Given the description of an element on the screen output the (x, y) to click on. 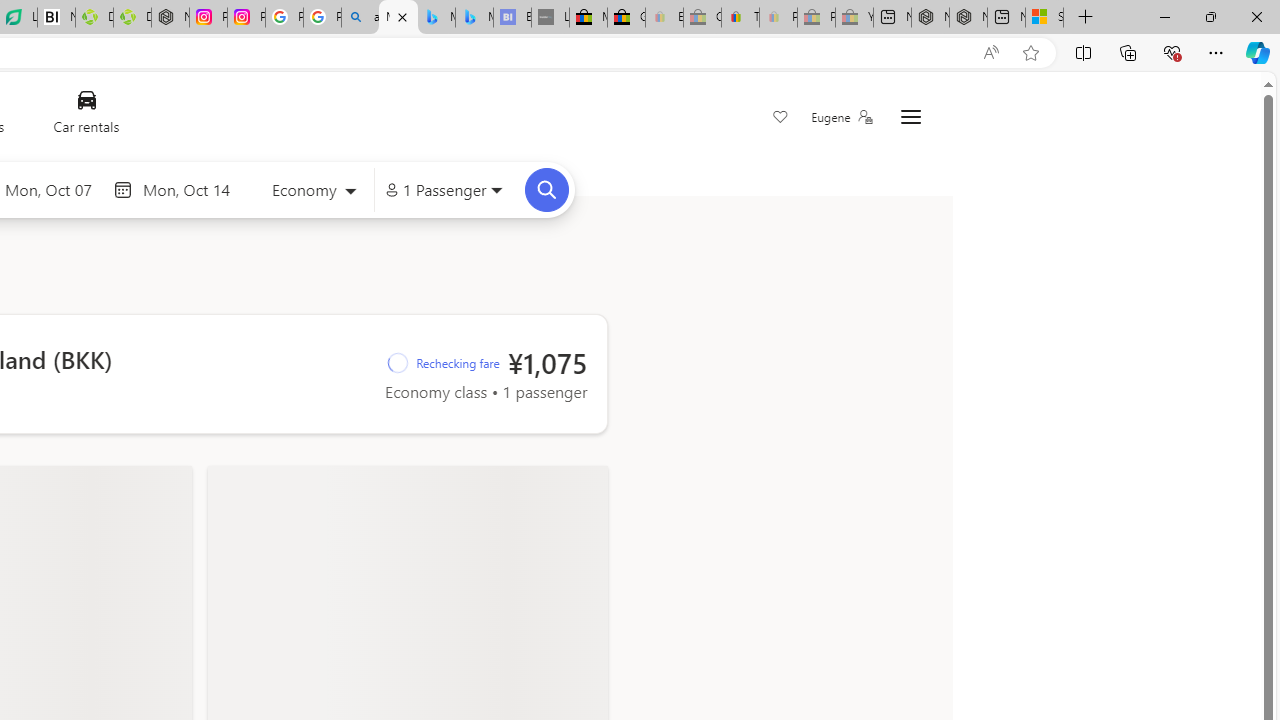
Car rentals (85, 116)
Press Room - eBay Inc. - Sleeping (815, 17)
Save (780, 118)
Payments Terms of Use | eBay.com - Sleeping (778, 17)
Yard, Garden & Outdoor Living - Sleeping (853, 17)
Eugene (841, 117)
Threats and offensive language policy | eBay (740, 17)
Microsoft Bing Travel - Flights from Hong Kong to Bangkok (398, 17)
